Given the description of an element on the screen output the (x, y) to click on. 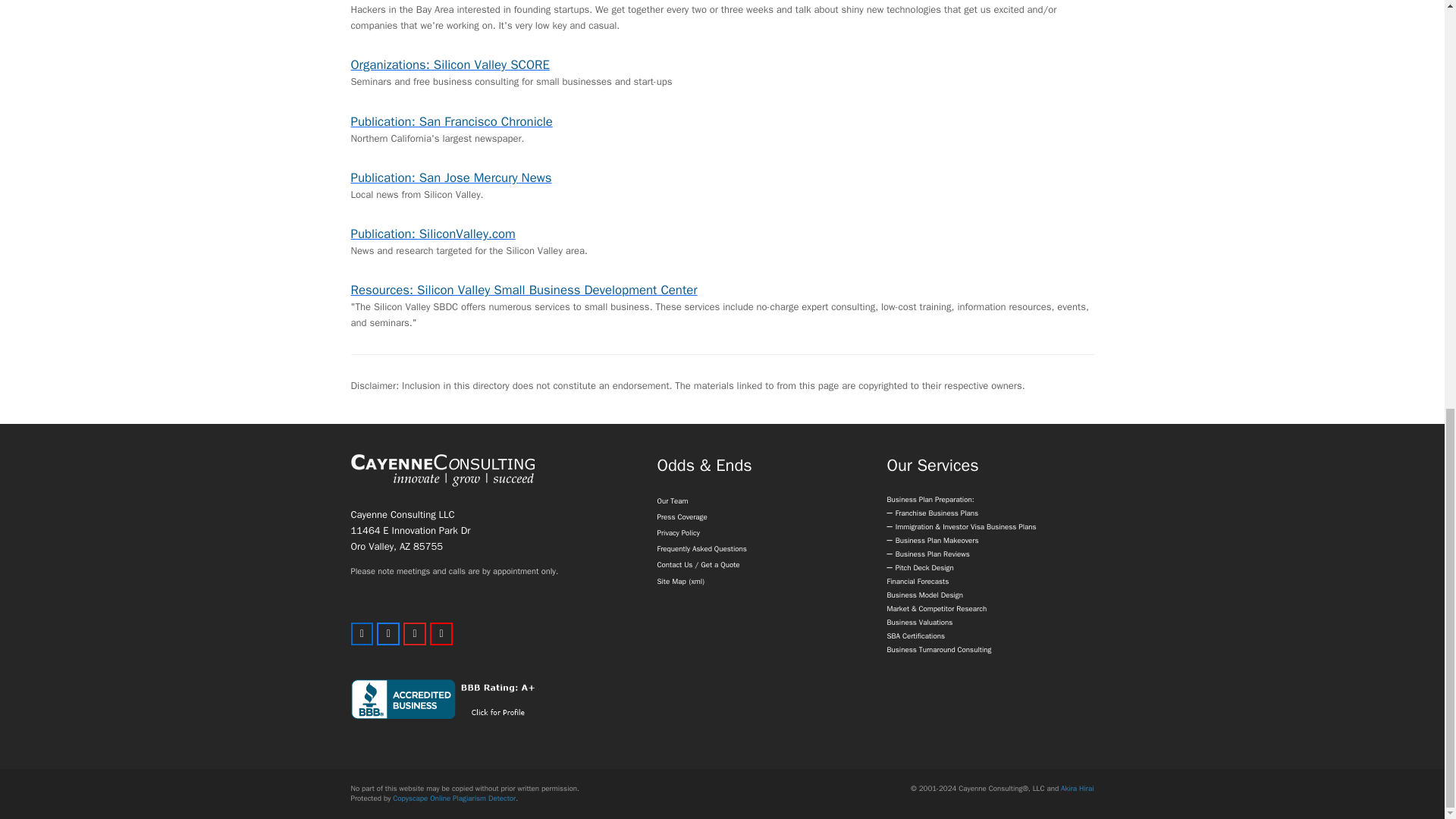
Yelp (414, 633)
LinkedIn (361, 633)
Facebook (387, 633)
Cayenne Consulting (442, 470)
YouTube (440, 633)
